Given the description of an element on the screen output the (x, y) to click on. 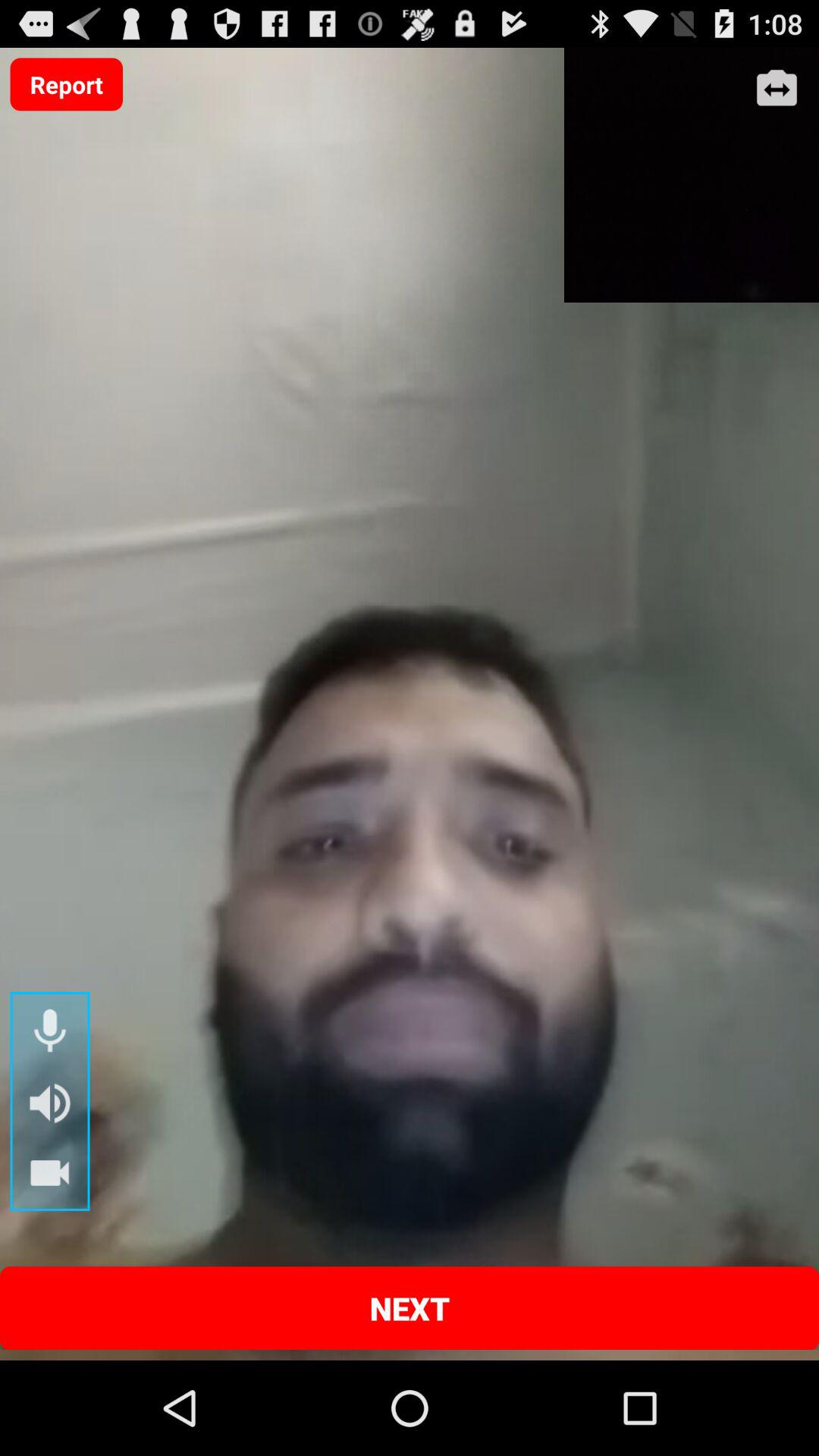
toggle volume (49, 1103)
